Given the description of an element on the screen output the (x, y) to click on. 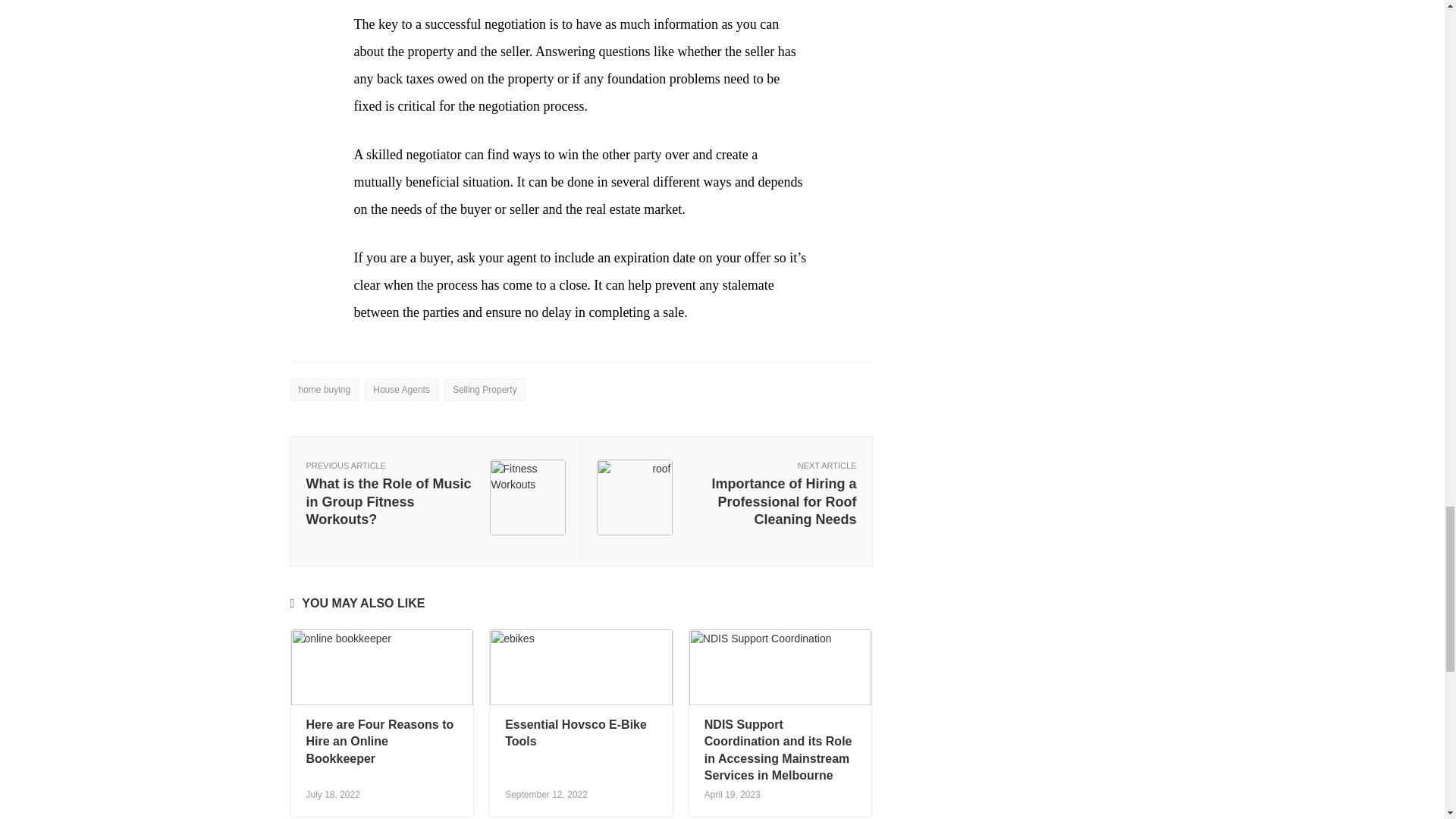
View all posts in home buying (323, 389)
home buying (323, 389)
View all posts in Selling Property (484, 389)
House Agents (401, 389)
Here are Four Reasons to Hire an Online Bookkeeper (379, 741)
View all posts in House Agents (401, 389)
Essential Hovsco E-Bike Tools (575, 732)
Selling Property (484, 389)
